Given the description of an element on the screen output the (x, y) to click on. 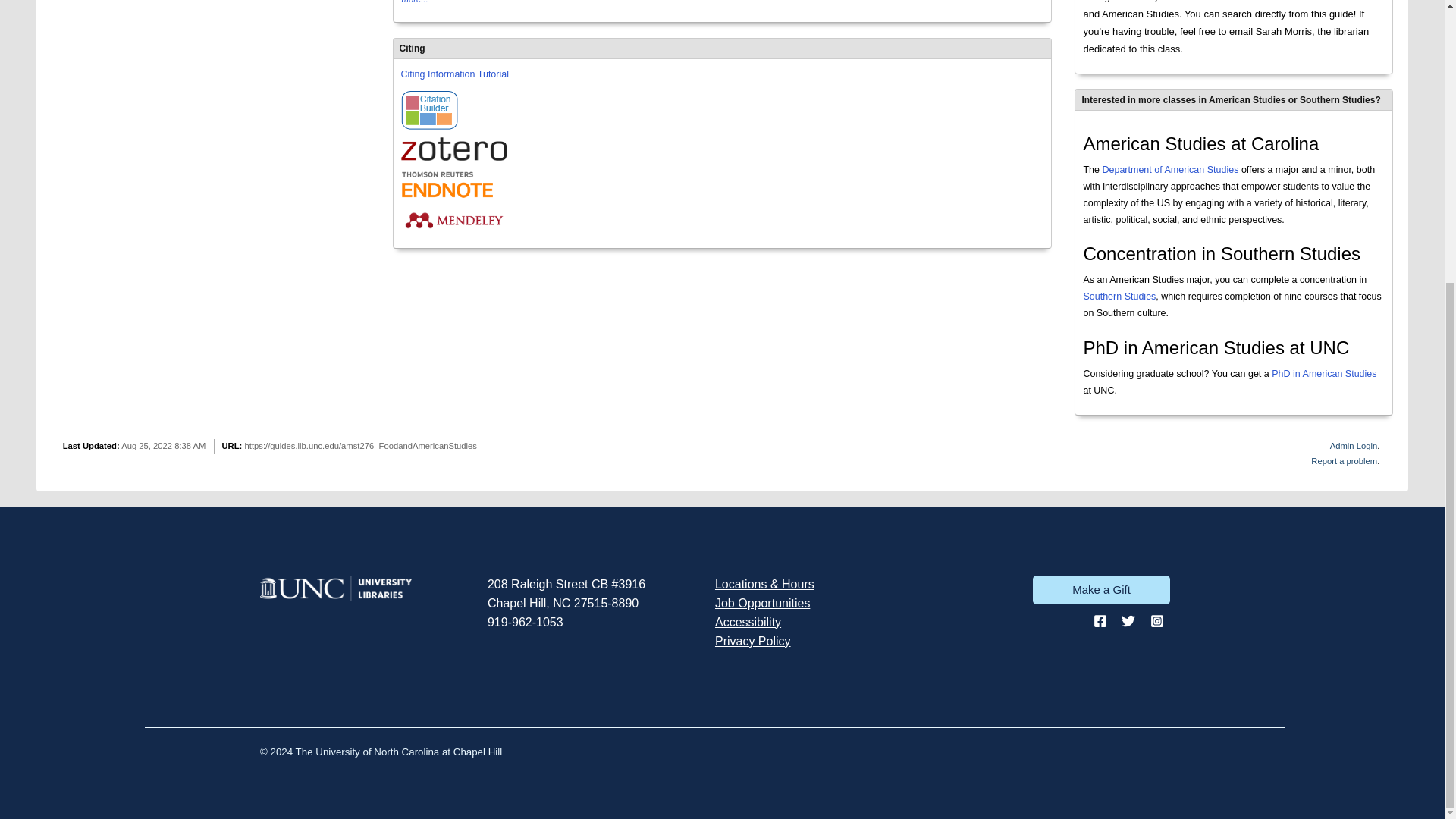
Mendeley (453, 219)
Citing Information Tutorial (454, 73)
Department of American Studies (1170, 169)
EndNote (453, 183)
Southern Studies (1119, 296)
Zotero (453, 148)
PhD in American Studies (1323, 373)
more... (415, 3)
